Given the description of an element on the screen output the (x, y) to click on. 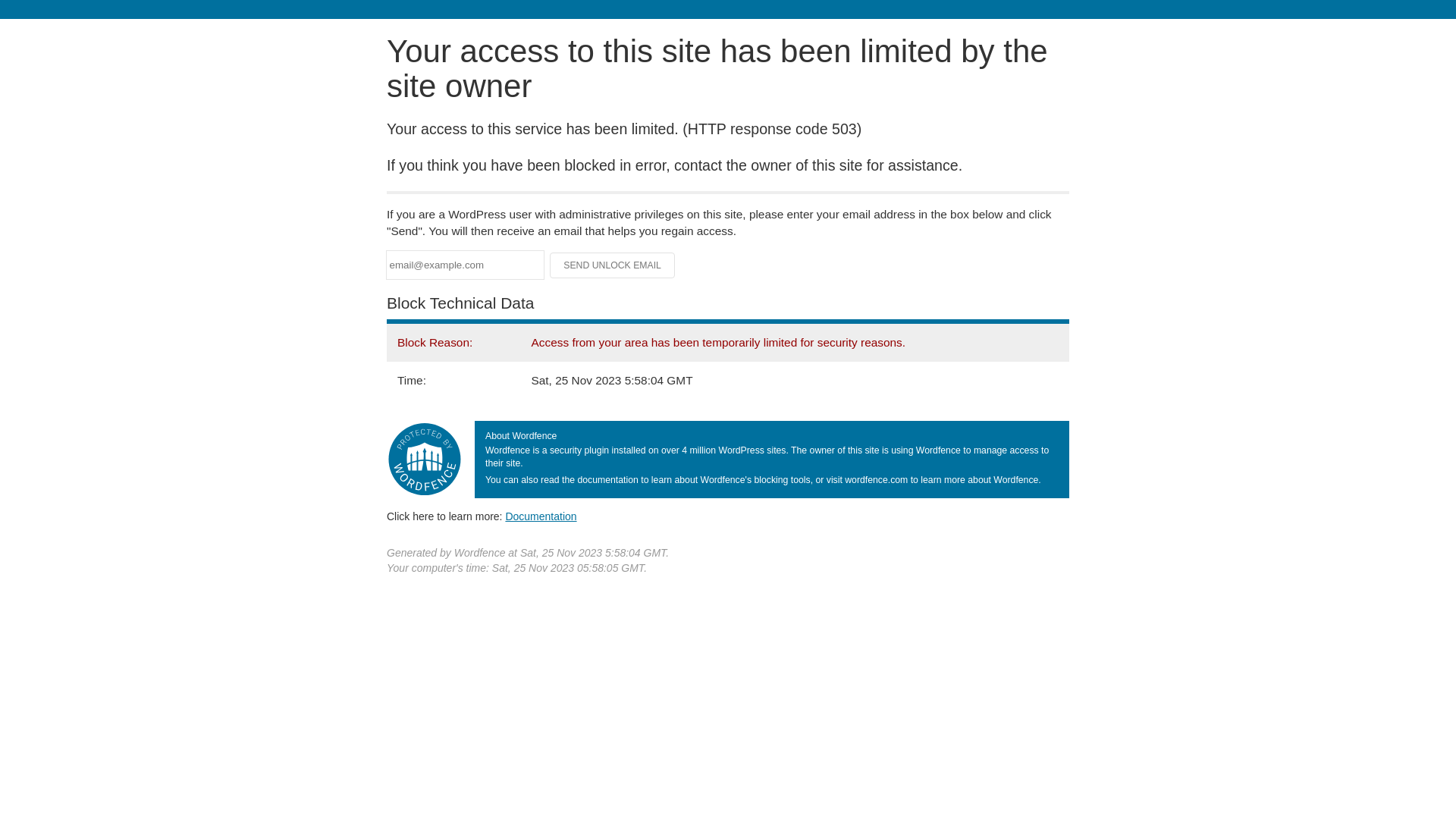
Send Unlock Email Element type: text (612, 265)
Documentation Element type: text (540, 516)
